Given the description of an element on the screen output the (x, y) to click on. 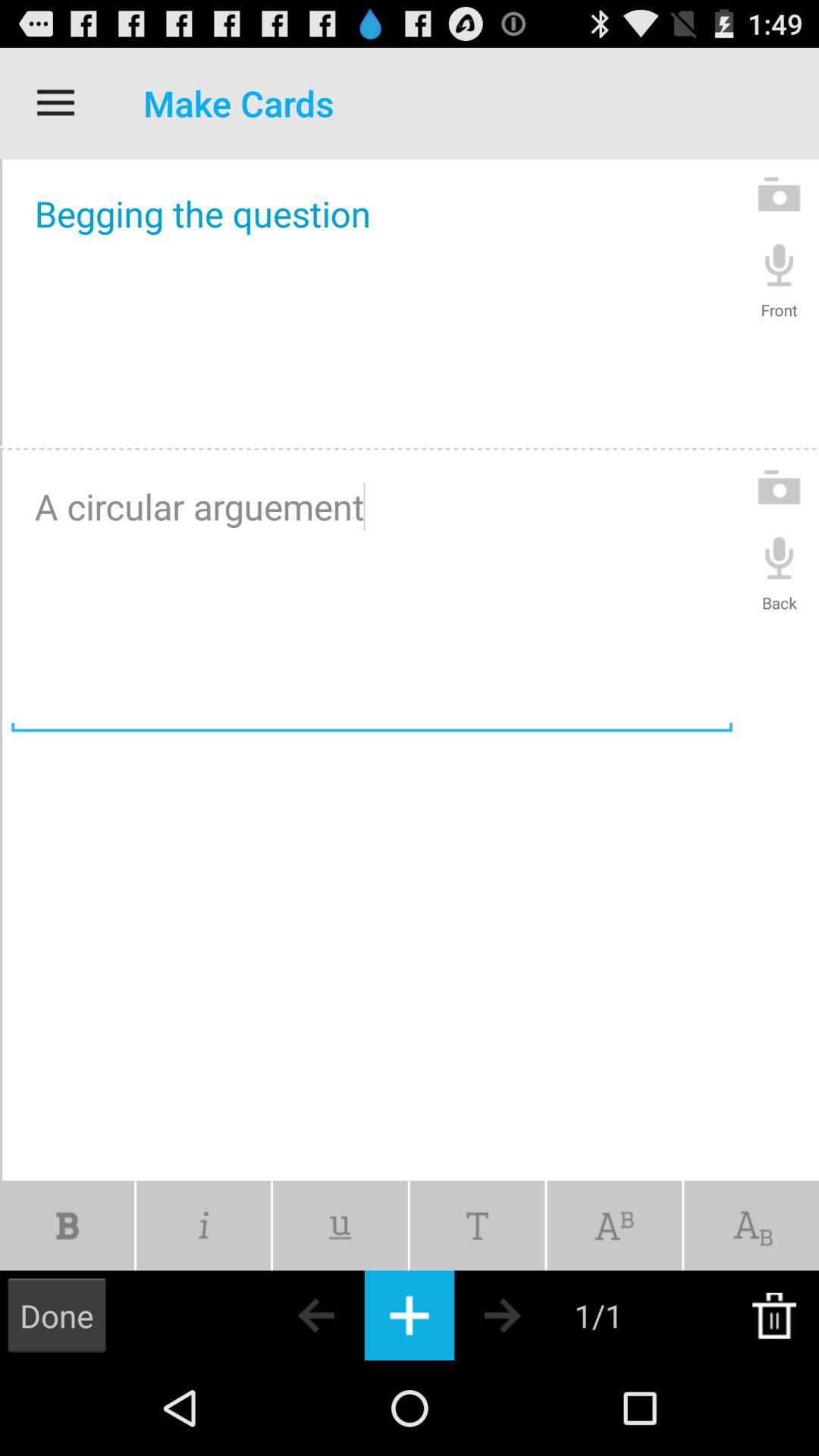
select the item below a circular arguement icon (340, 1225)
